Given the description of an element on the screen output the (x, y) to click on. 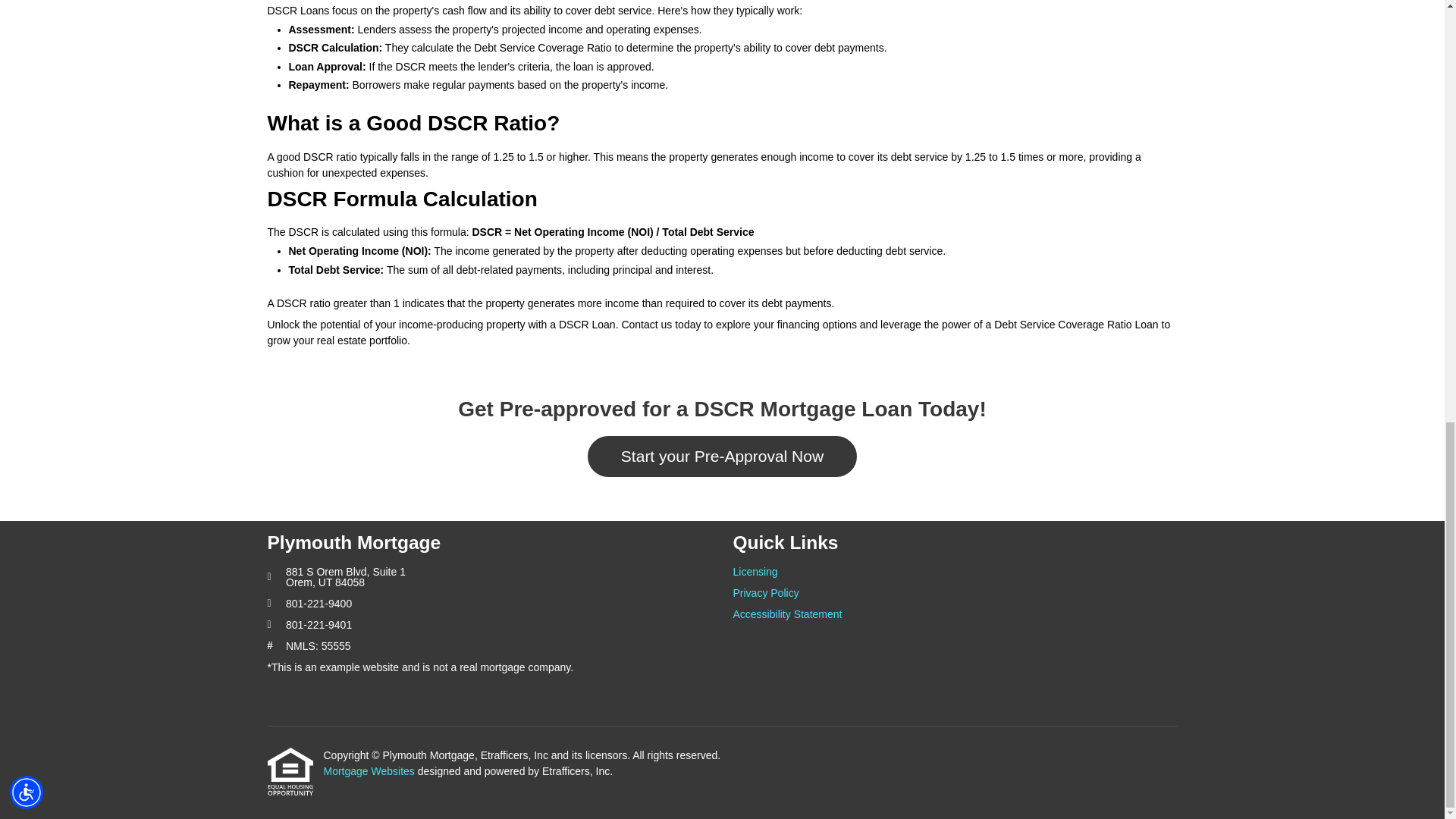
Privacy Policy (954, 593)
Mortgage Websites (368, 770)
Accessibility Statement (954, 614)
Start your Pre-Approval Now (722, 455)
Licensing (954, 571)
